Given the description of an element on the screen output the (x, y) to click on. 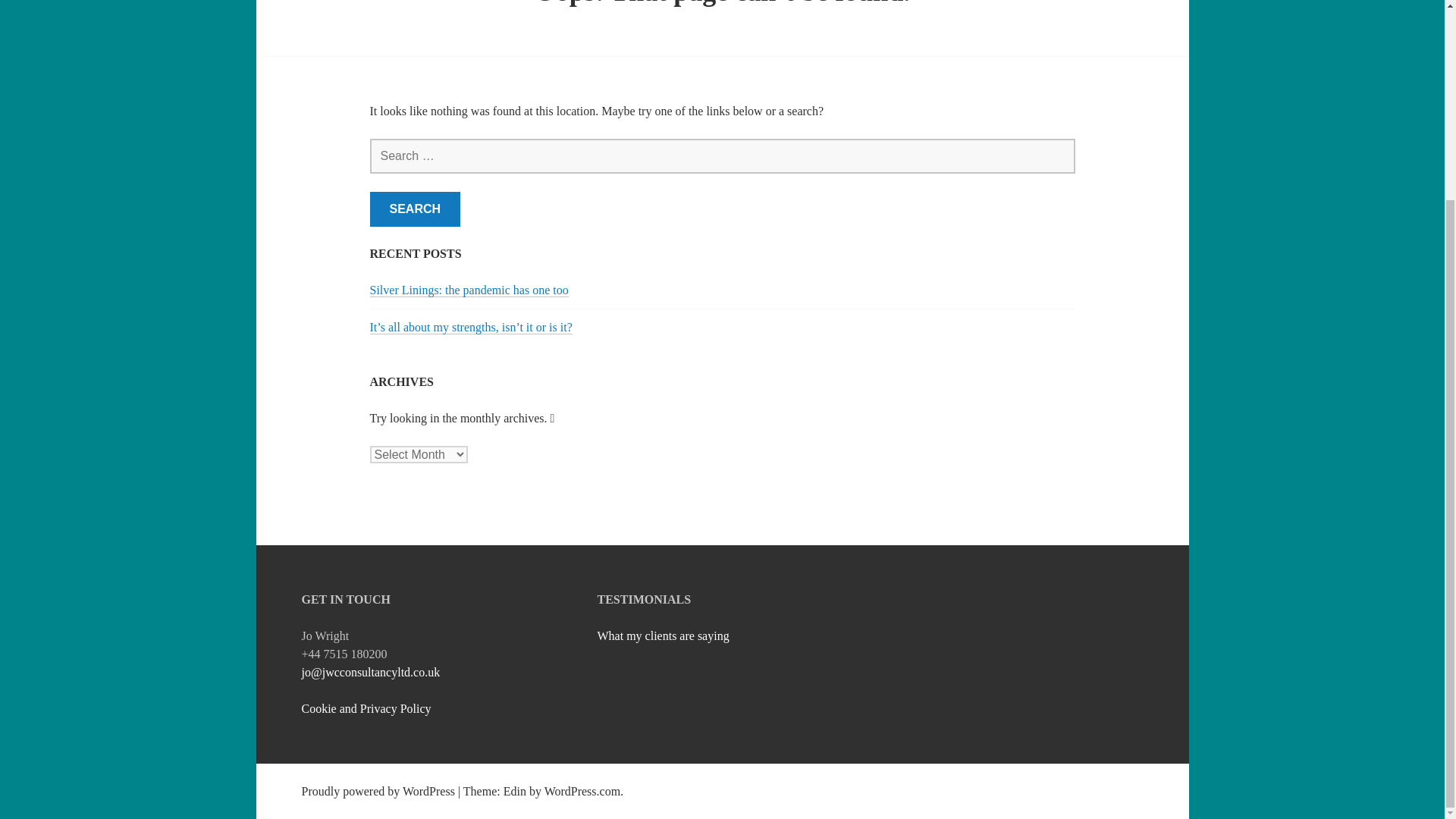
WordPress.com (582, 790)
What my clients are saying (662, 635)
Proudly powered by WordPress (377, 790)
Search (415, 208)
Silver Linings: the pandemic has one too (469, 290)
Cookie and Privacy Policy (365, 707)
Search (415, 208)
Search (415, 208)
